Given the description of an element on the screen output the (x, y) to click on. 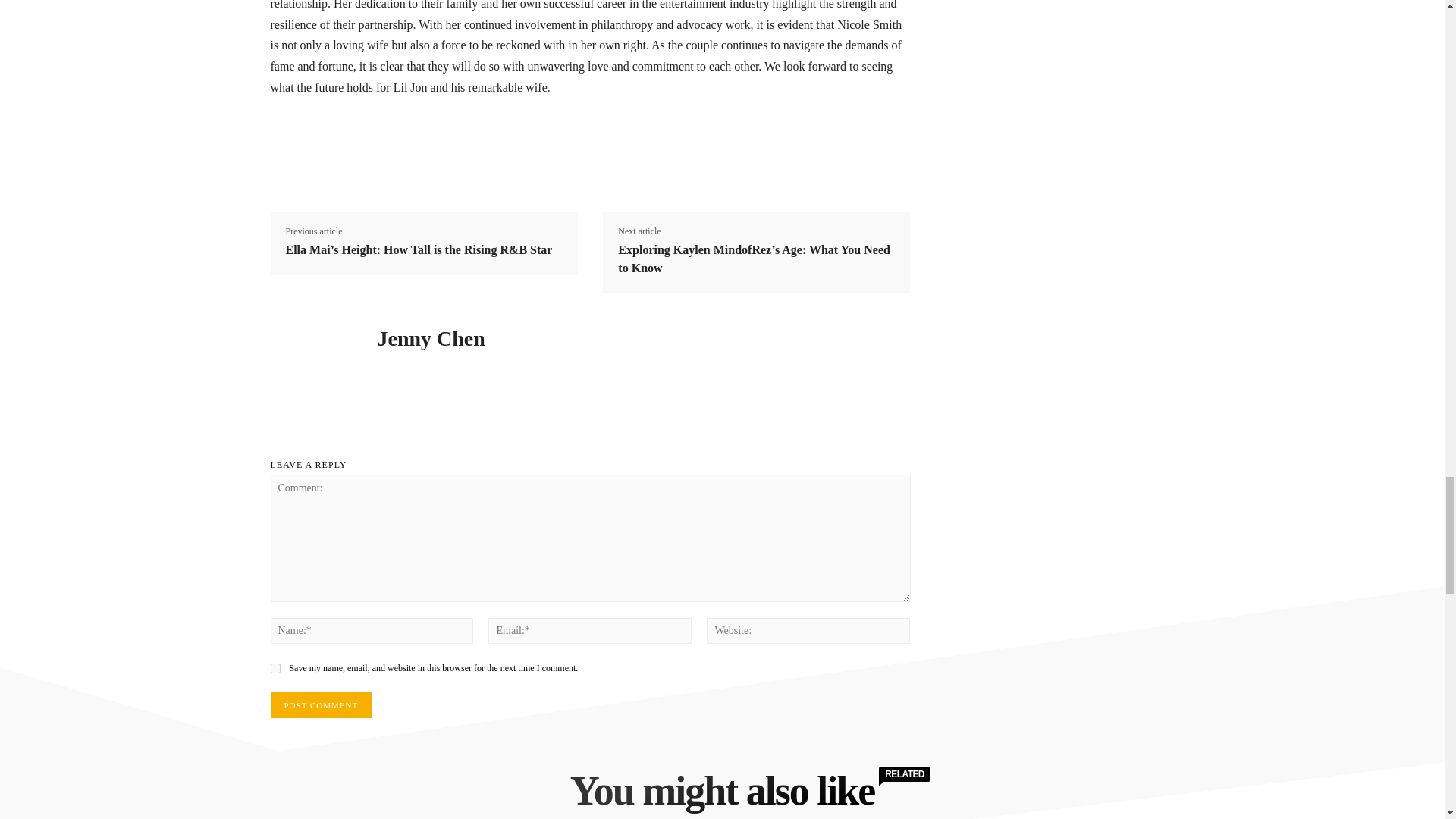
Post Comment (320, 705)
yes (274, 668)
